Given the description of an element on the screen output the (x, y) to click on. 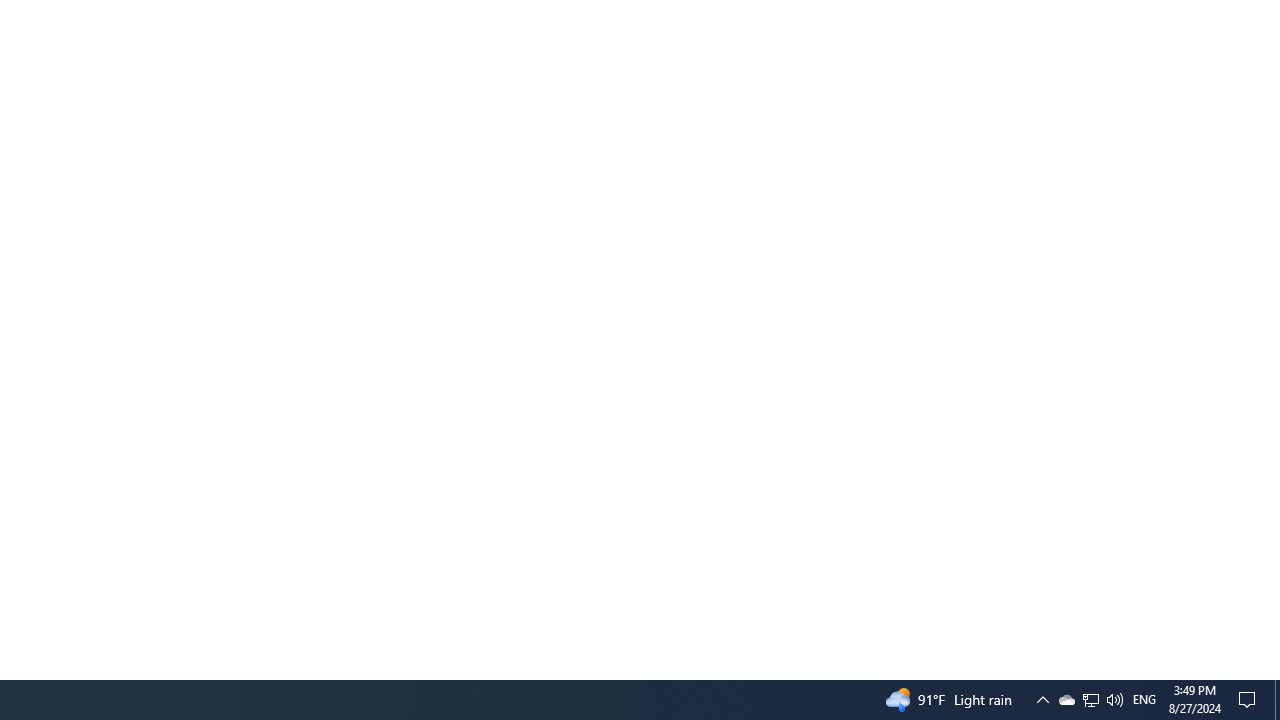
Q2790: 100% (1114, 699)
User Promoted Notification Area (1066, 699)
Notification Chevron (1090, 699)
Tray Input Indicator - English (United States) (1042, 699)
Action Center, No new notifications (1144, 699)
Show desktop (1250, 699)
